Given the description of an element on the screen output the (x, y) to click on. 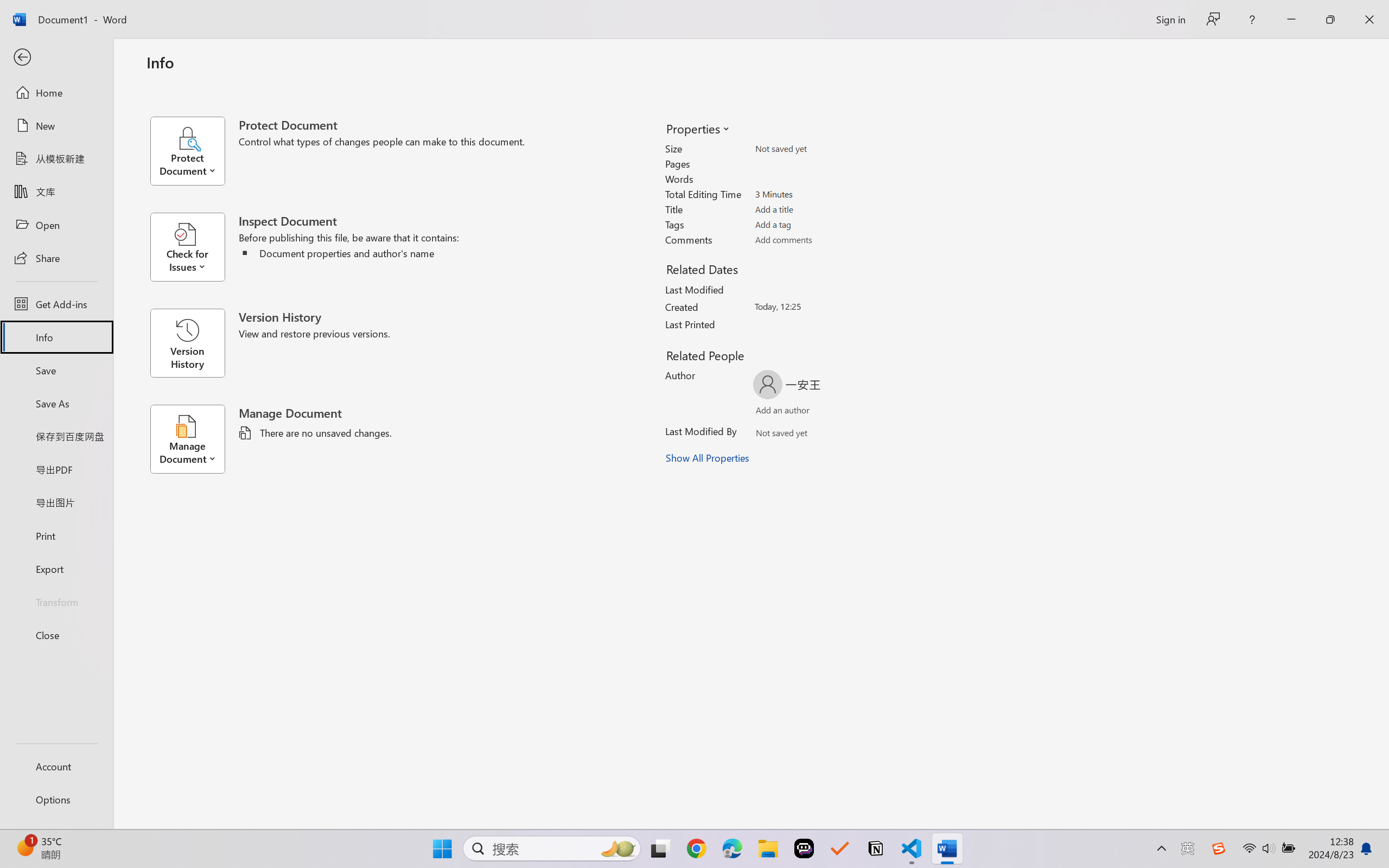
Words (818, 178)
Pages (818, 163)
Account (56, 765)
Get Add-ins (56, 303)
Protect Document (194, 150)
